Given the description of an element on the screen output the (x, y) to click on. 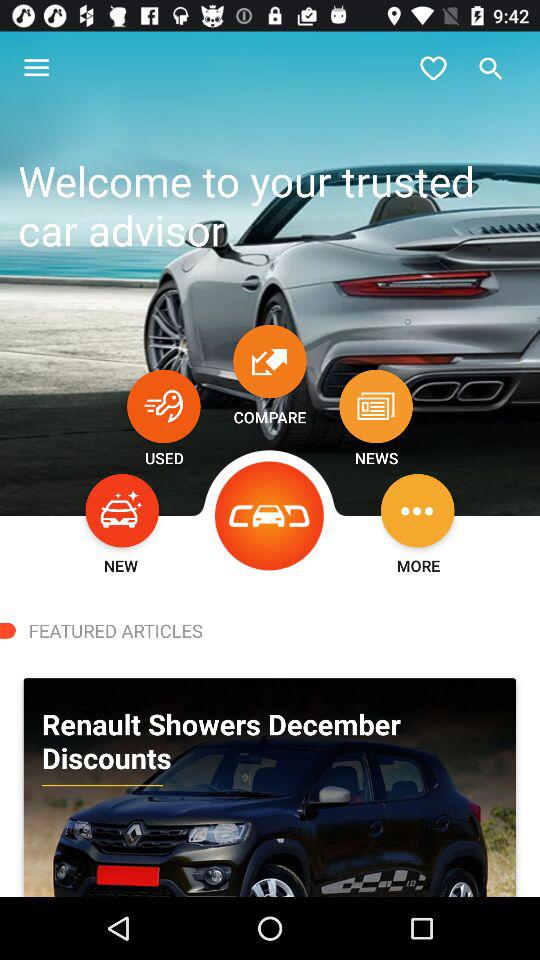
view more features (417, 510)
